Given the description of an element on the screen output the (x, y) to click on. 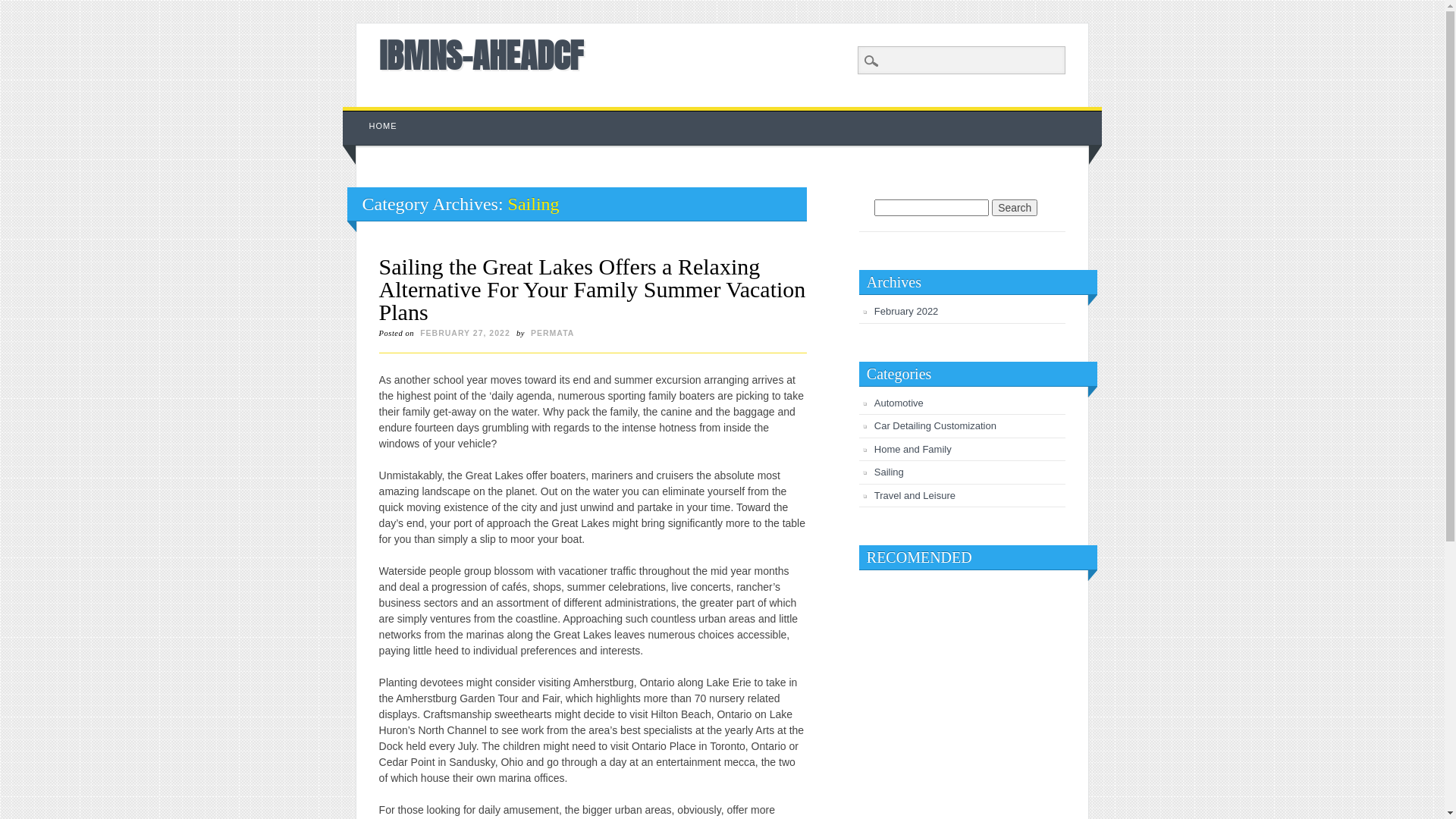
Search Element type: text (1014, 207)
FEBRUARY 27, 2022 Element type: text (465, 332)
Home and Family Element type: text (912, 449)
Skip to content Element type: text (377, 114)
Automotive Element type: text (898, 402)
Travel and Leisure Element type: text (914, 495)
IBMNS-AHEADCF Element type: text (481, 55)
HOME Element type: text (383, 125)
Search Element type: text (22, 8)
Car Detailing Customization Element type: text (935, 425)
Sailing Element type: text (888, 471)
February 2022 Element type: text (906, 310)
PERMATA Element type: text (552, 332)
